Given the description of an element on the screen output the (x, y) to click on. 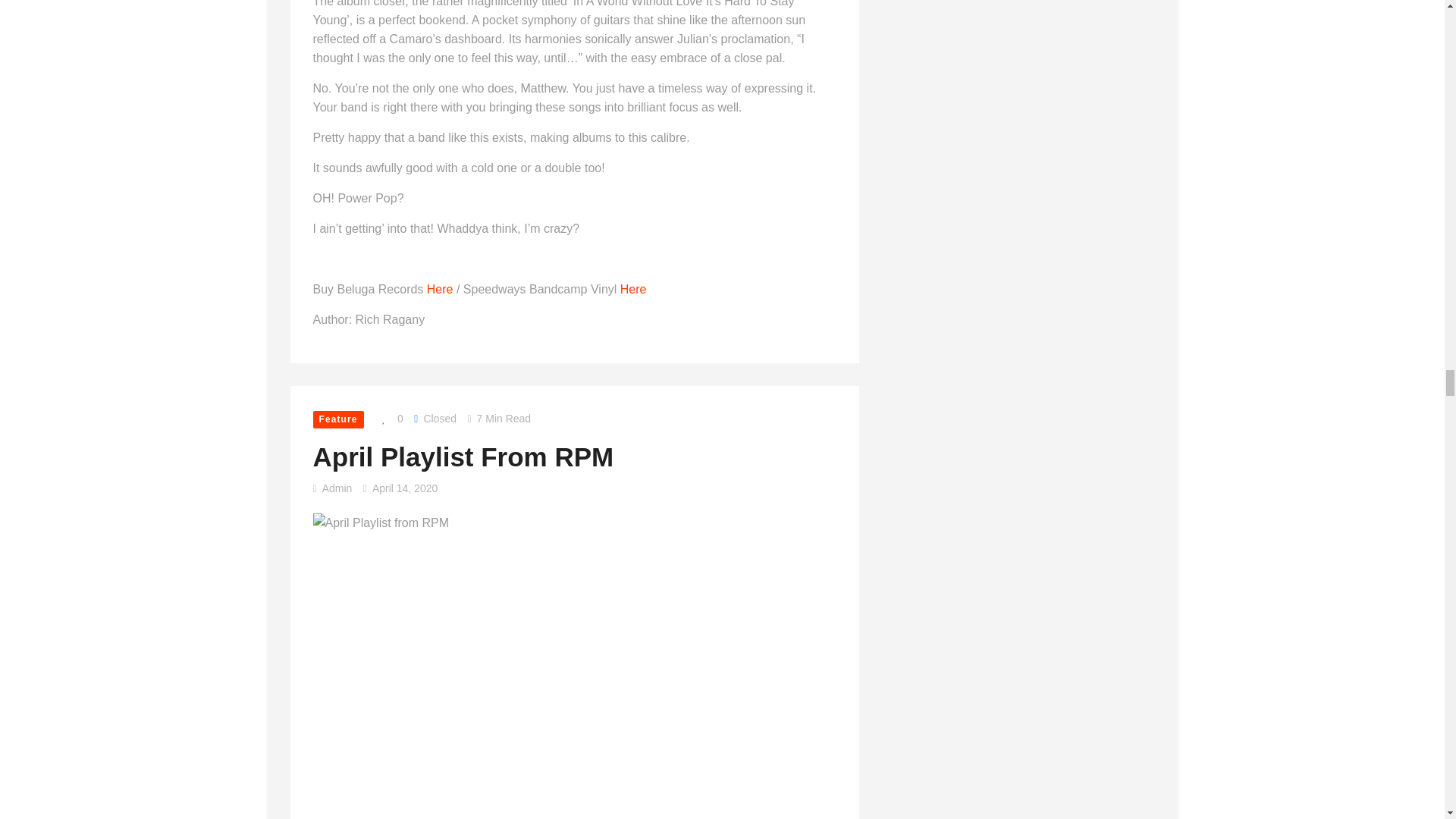
Spotify Embed: RPM Online April Playlist (426, 814)
Like this (388, 418)
